Given the description of an element on the screen output the (x, y) to click on. 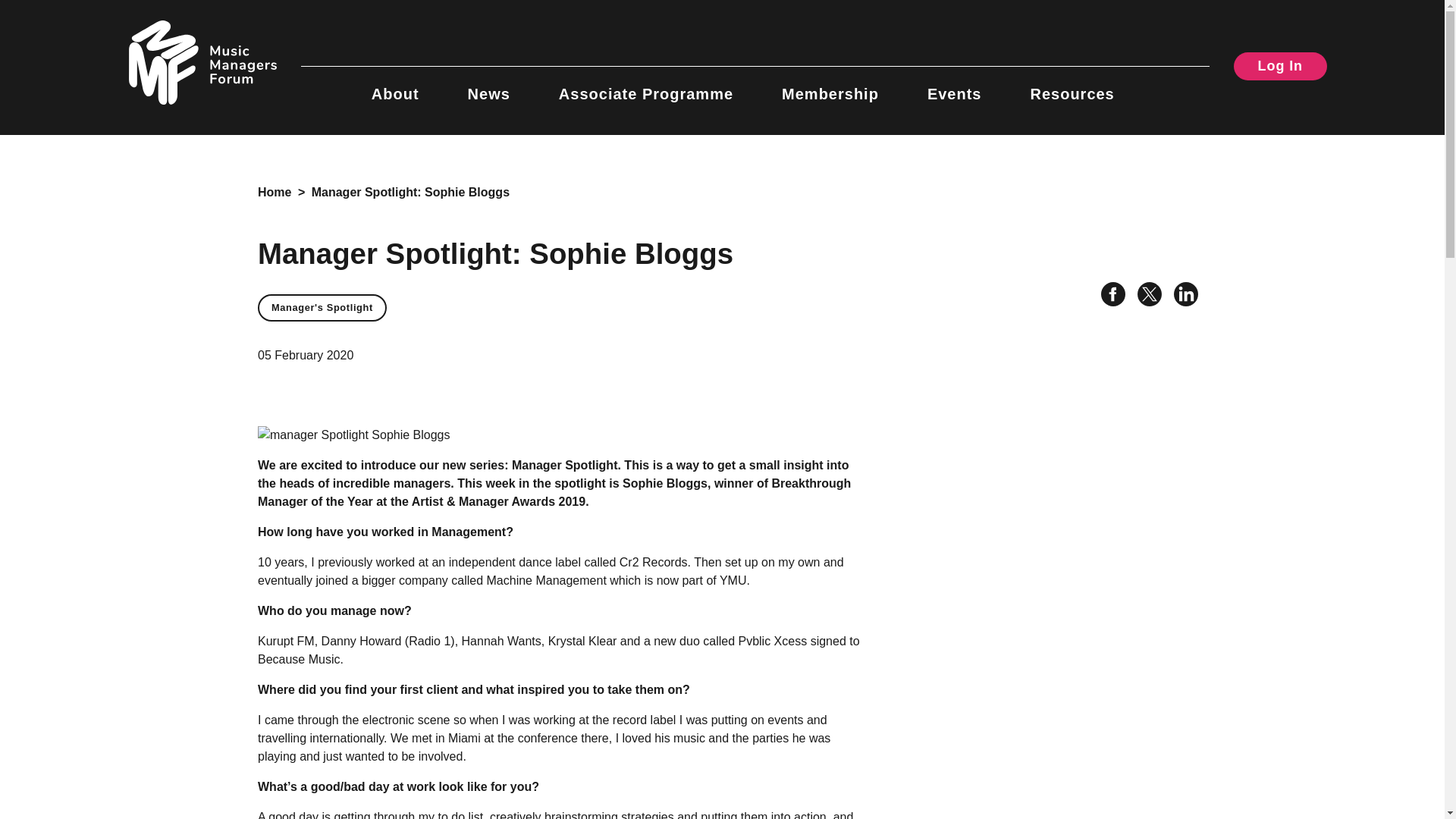
Membership (830, 85)
Manager's Spotlight (322, 307)
Log In (1279, 66)
Share on twitter (1143, 296)
Manager Spotlight: Sophie Bloggs (410, 192)
Associate Programme (646, 85)
Share on linked in (1179, 296)
Events (954, 85)
Share on facebook (1107, 296)
Resources (1071, 85)
About (395, 85)
Home (274, 192)
News (489, 85)
